Given the description of an element on the screen output the (x, y) to click on. 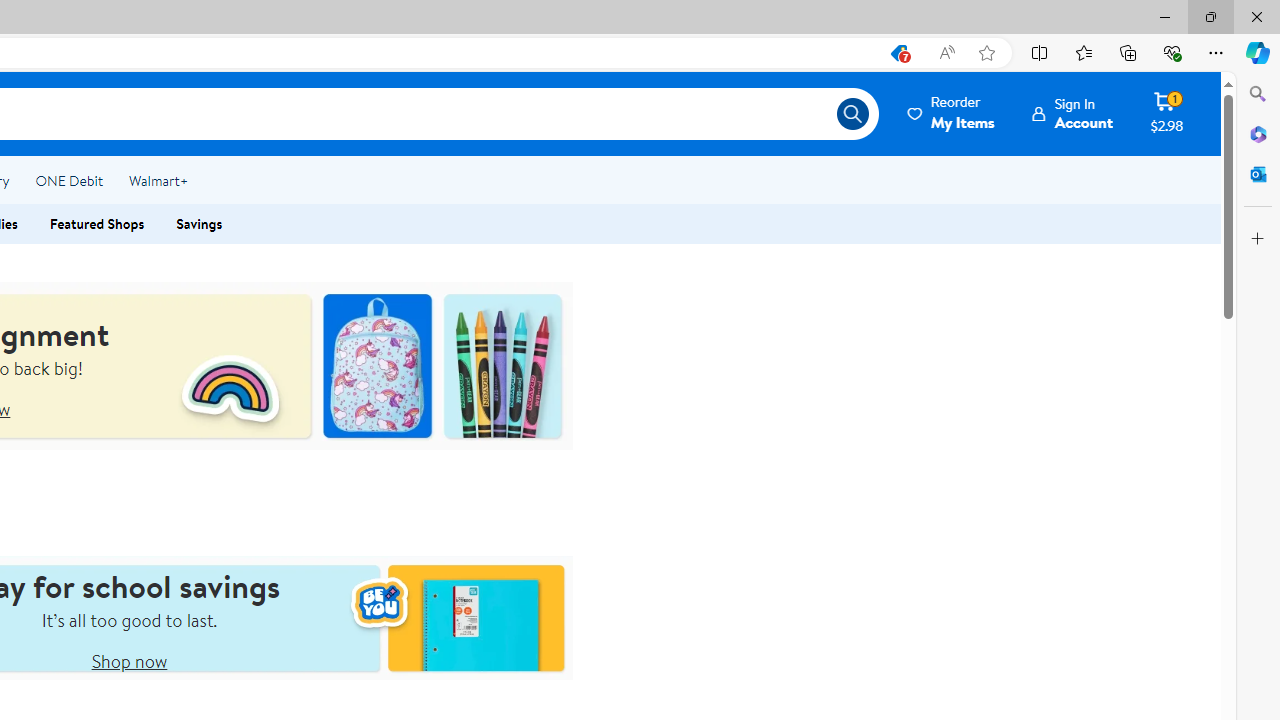
Cart contains 1 item Total Amount $2.98 (1166, 113)
ONE Debit (68, 180)
ReorderMy Items (952, 113)
Savings (199, 224)
Shop now (128, 660)
Sign In Account (1072, 113)
